Given the description of an element on the screen output the (x, y) to click on. 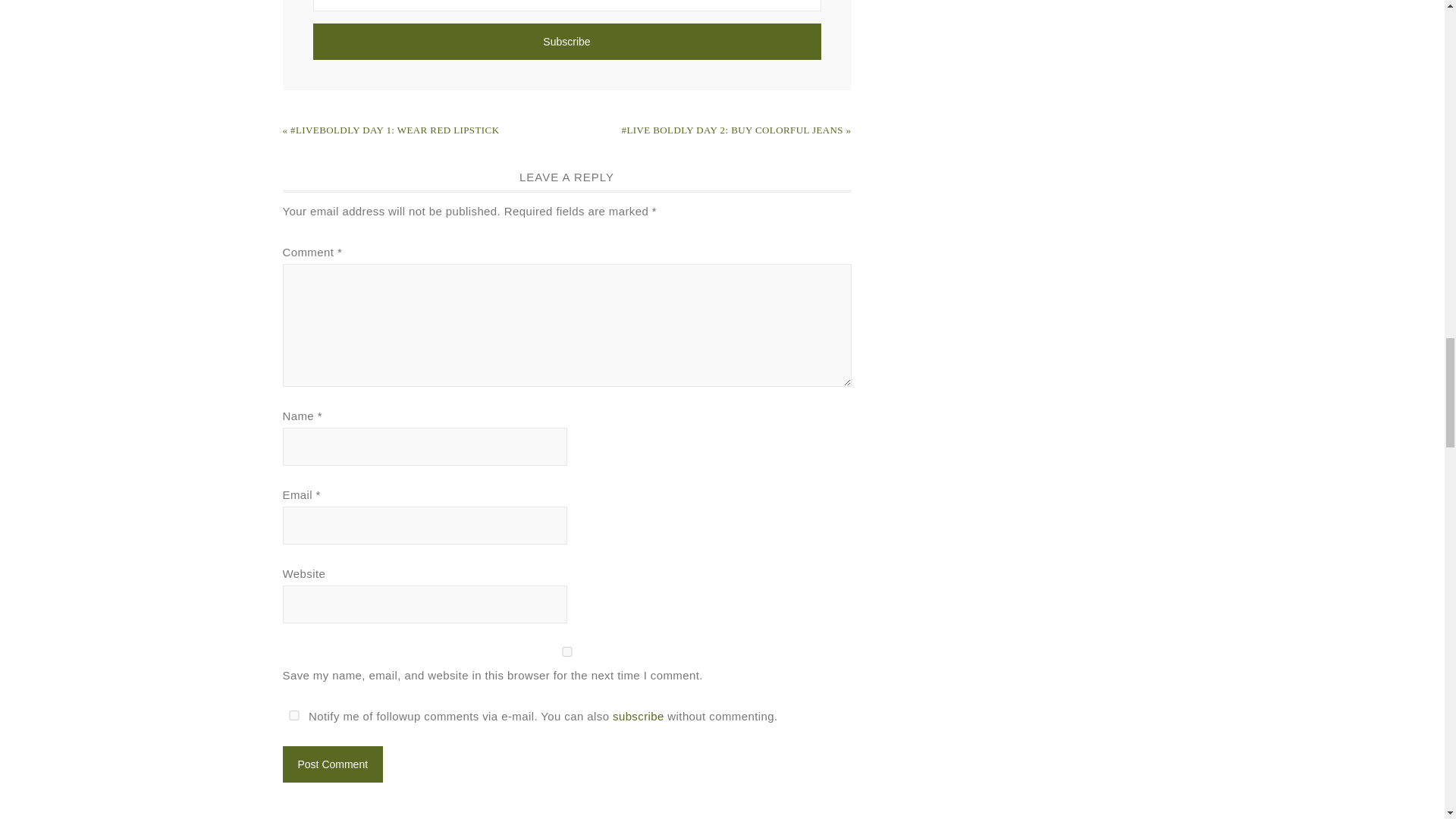
Post Comment (332, 764)
yes (293, 715)
Subscribe (567, 41)
yes (566, 651)
Post Comment (332, 764)
Subscribe (567, 41)
subscribe (637, 716)
